Given the description of an element on the screen output the (x, y) to click on. 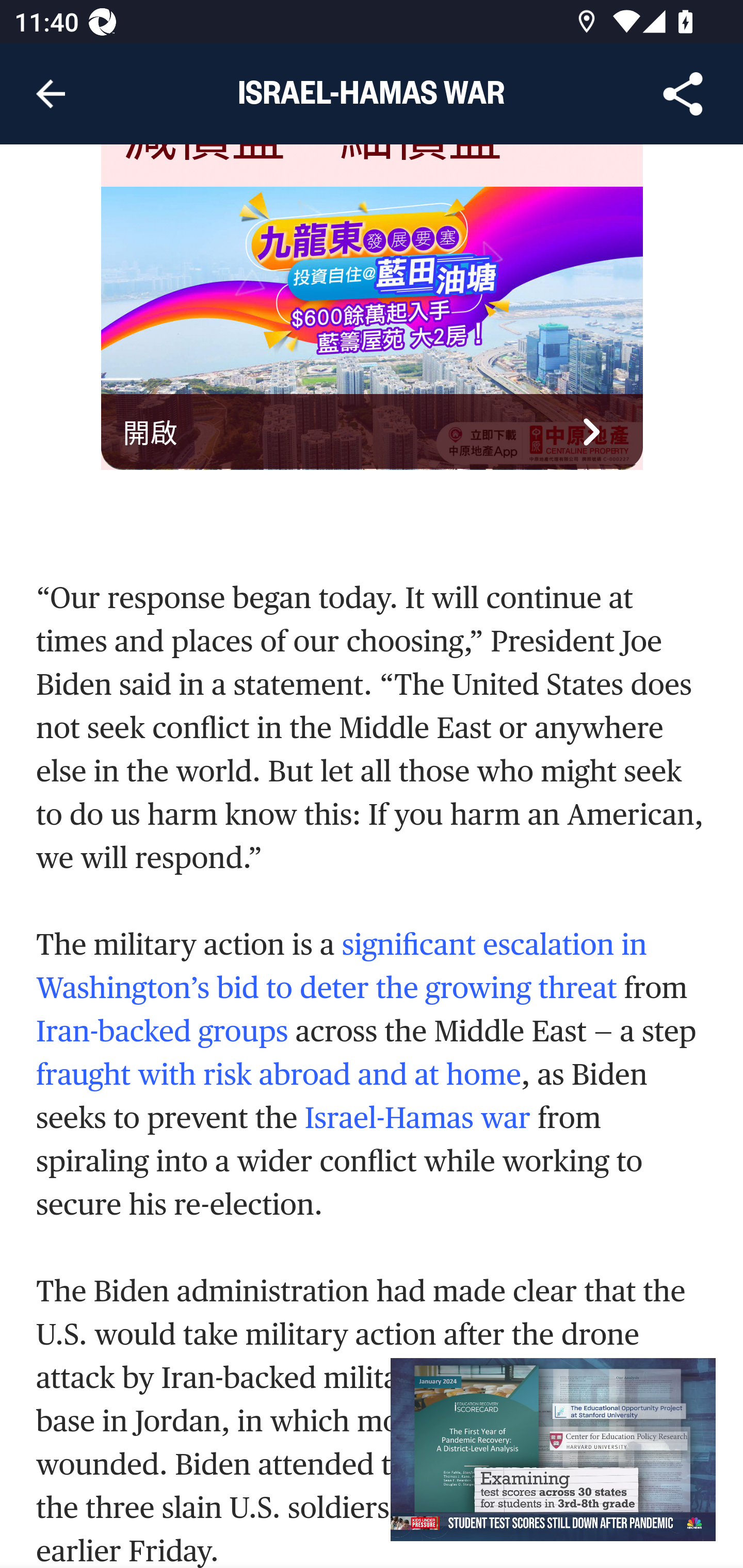
Navigate up (50, 93)
Share Article, button (683, 94)
開啟 (372, 430)
significant escalation in Washington (341, 967)
Iran-backed groups (162, 1032)
fraught with risk abroad and at home (278, 1076)
Israel-Hamas war (417, 1118)
